Given the description of an element on the screen output the (x, y) to click on. 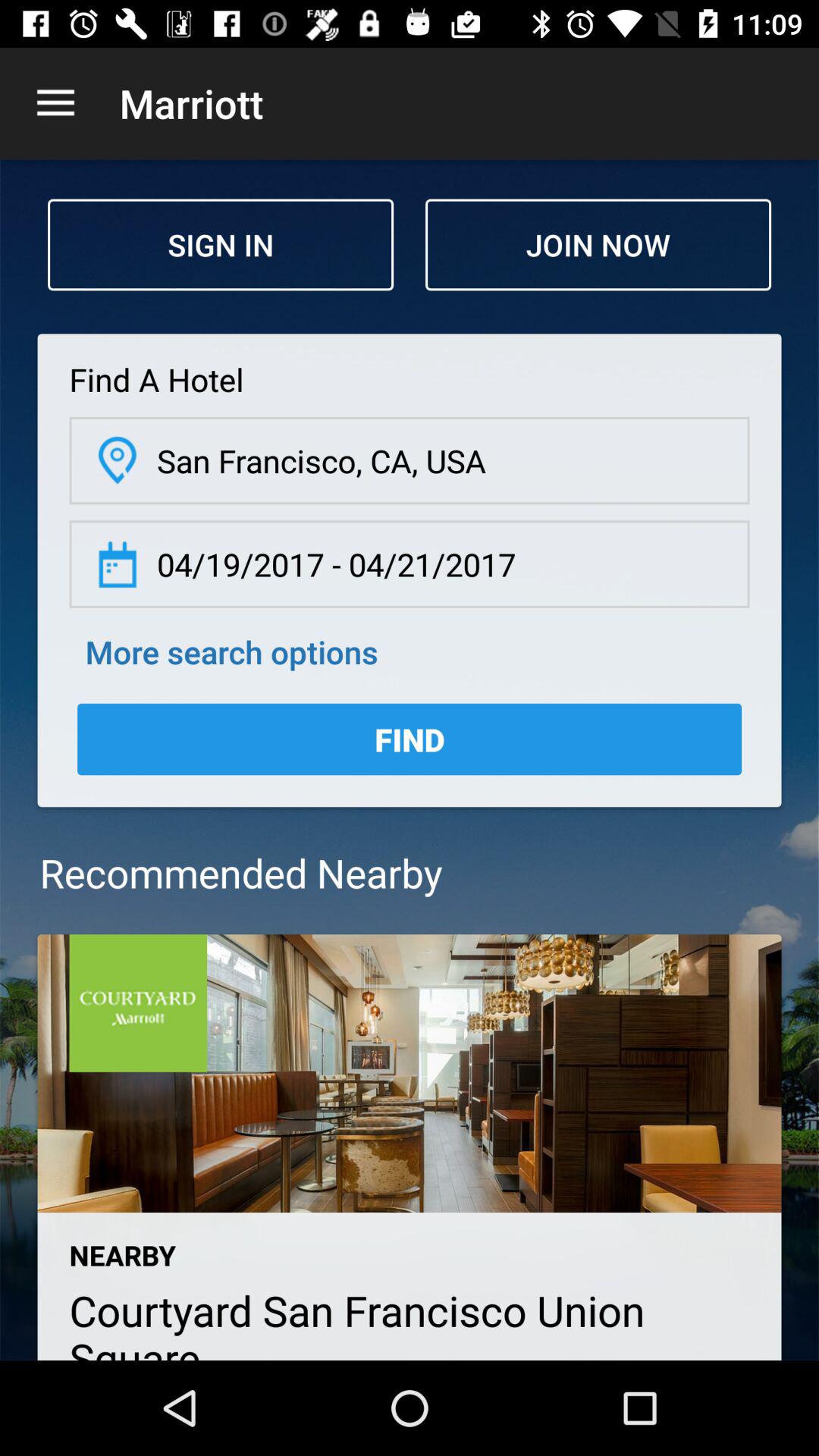
choose more search options item (231, 651)
